Given the description of an element on the screen output the (x, y) to click on. 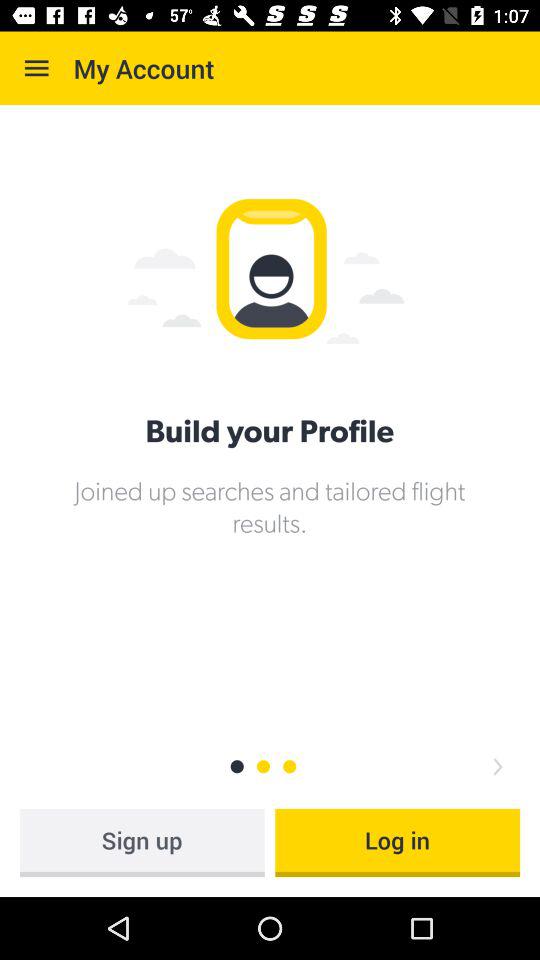
turn off the icon to the left of the log in icon (141, 842)
